Given the description of an element on the screen output the (x, y) to click on. 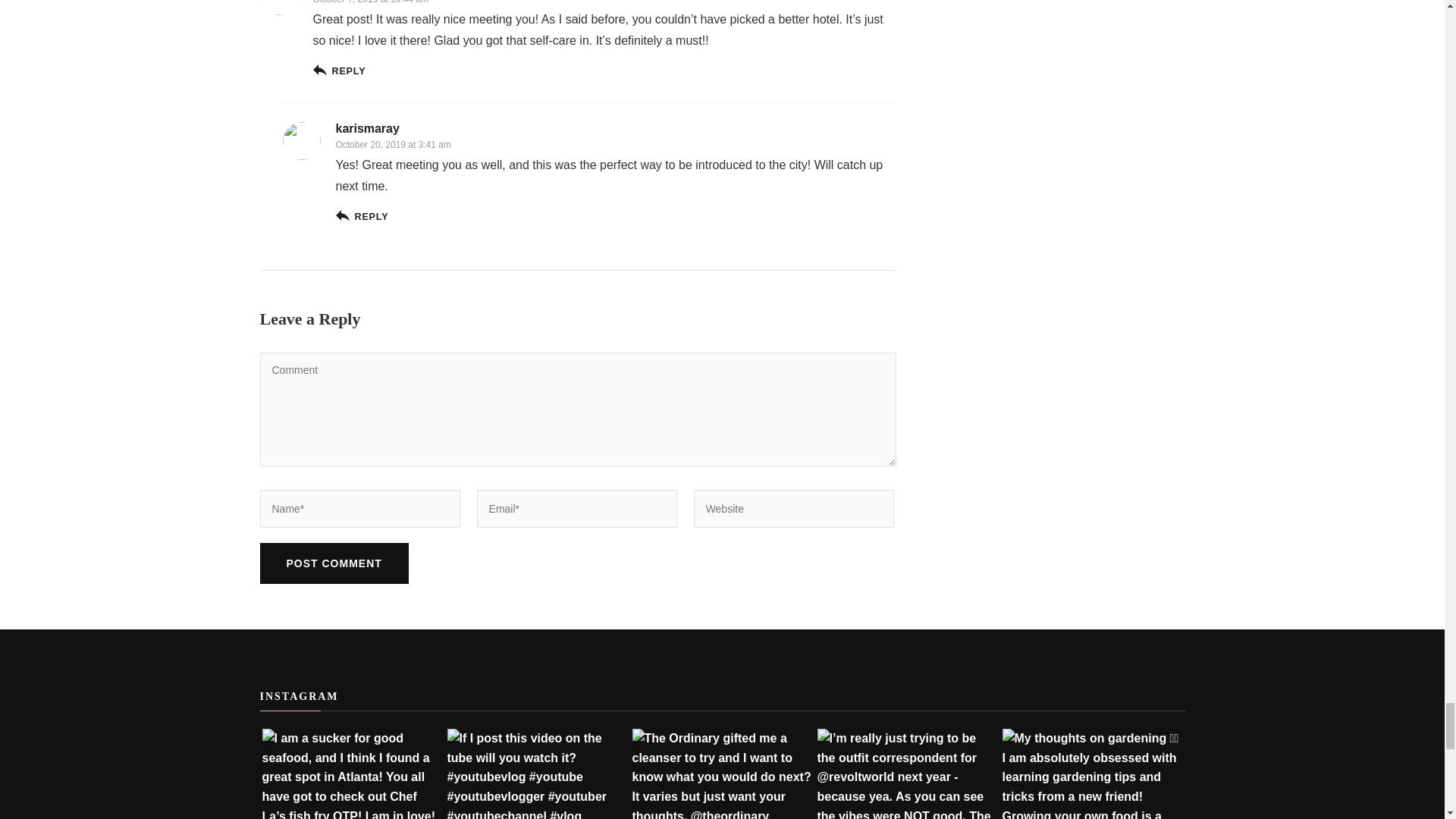
October 7, 2019 at 10:44 am (370, 2)
Post Comment (333, 562)
